Given the description of an element on the screen output the (x, y) to click on. 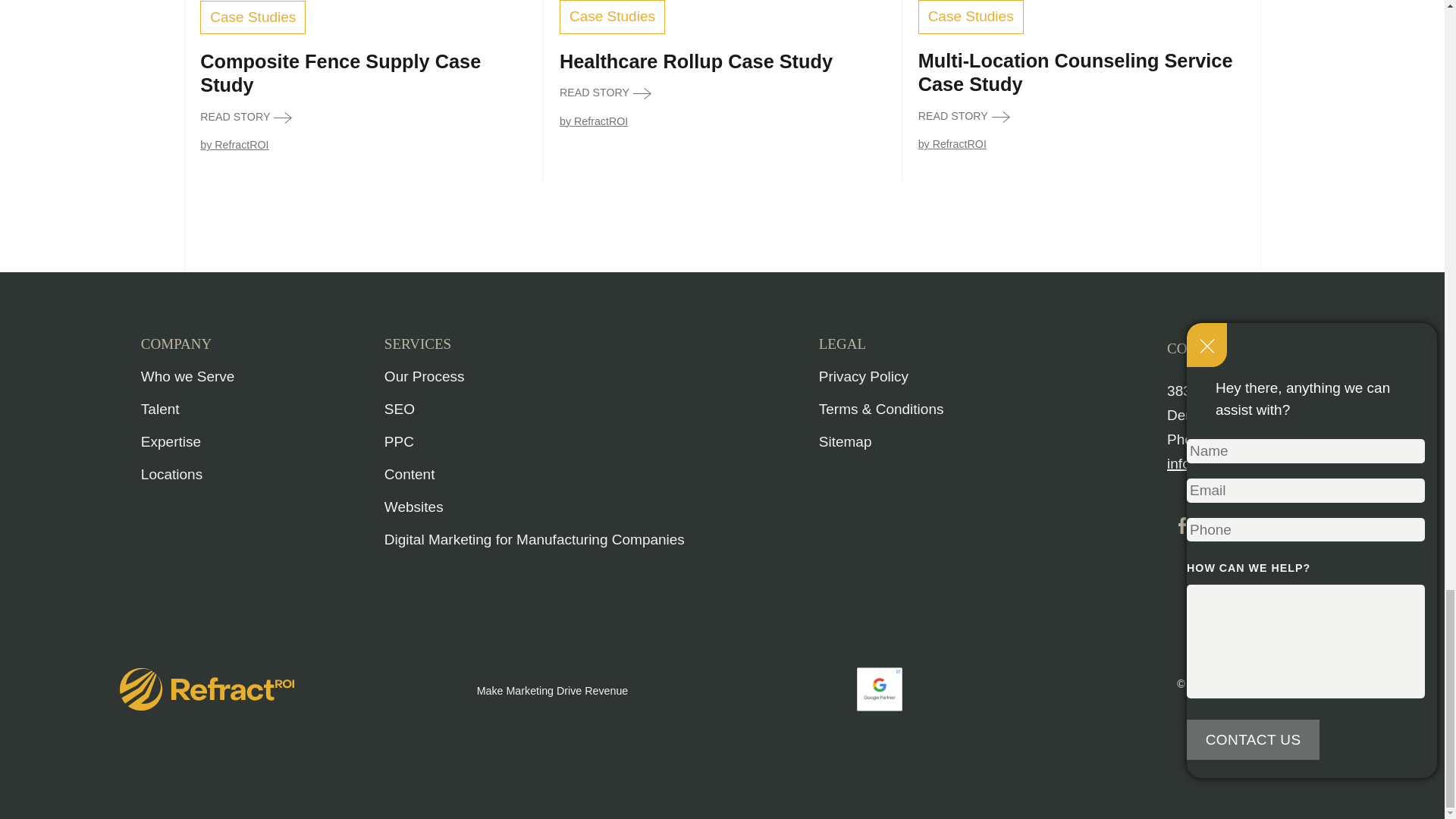
Digital Marketing for Manufacturing Companies (534, 539)
Privacy Policy (863, 376)
Talent (160, 408)
PPC (398, 441)
Sitemap (845, 441)
Content (409, 474)
SEO (399, 408)
Our Process (424, 376)
Locations (171, 474)
303-854-6427 (1261, 439)
Websites (414, 506)
Who we Serve (187, 376)
Expertise (170, 441)
